Given the description of an element on the screen output the (x, y) to click on. 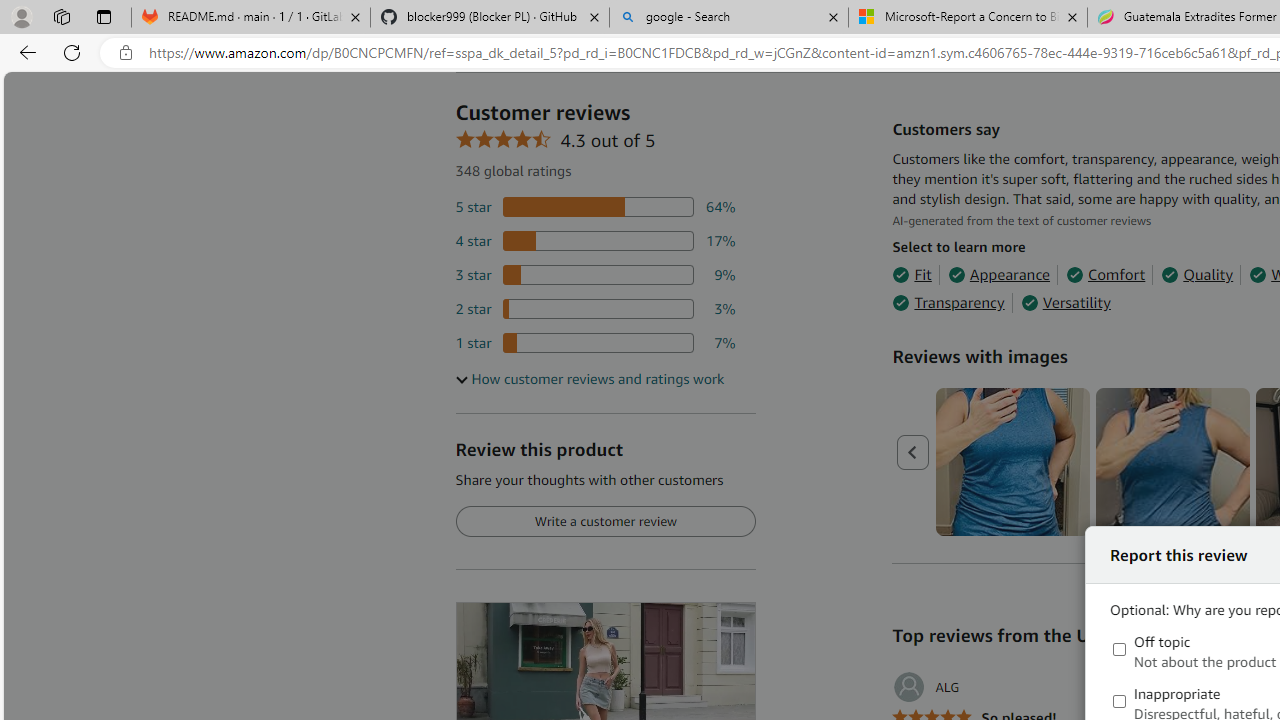
Versatility (1065, 303)
64 percent of reviews have 5 stars (595, 207)
Class: a-carousel-card (1173, 462)
Comfort (1105, 274)
17 percent of reviews have 4 stars (595, 241)
9 percent of reviews have 3 stars (595, 274)
ALG (926, 687)
3 percent of reviews have 2 stars (595, 308)
Transparency (948, 303)
How customer reviews and ratings work (589, 379)
